Given the description of an element on the screen output the (x, y) to click on. 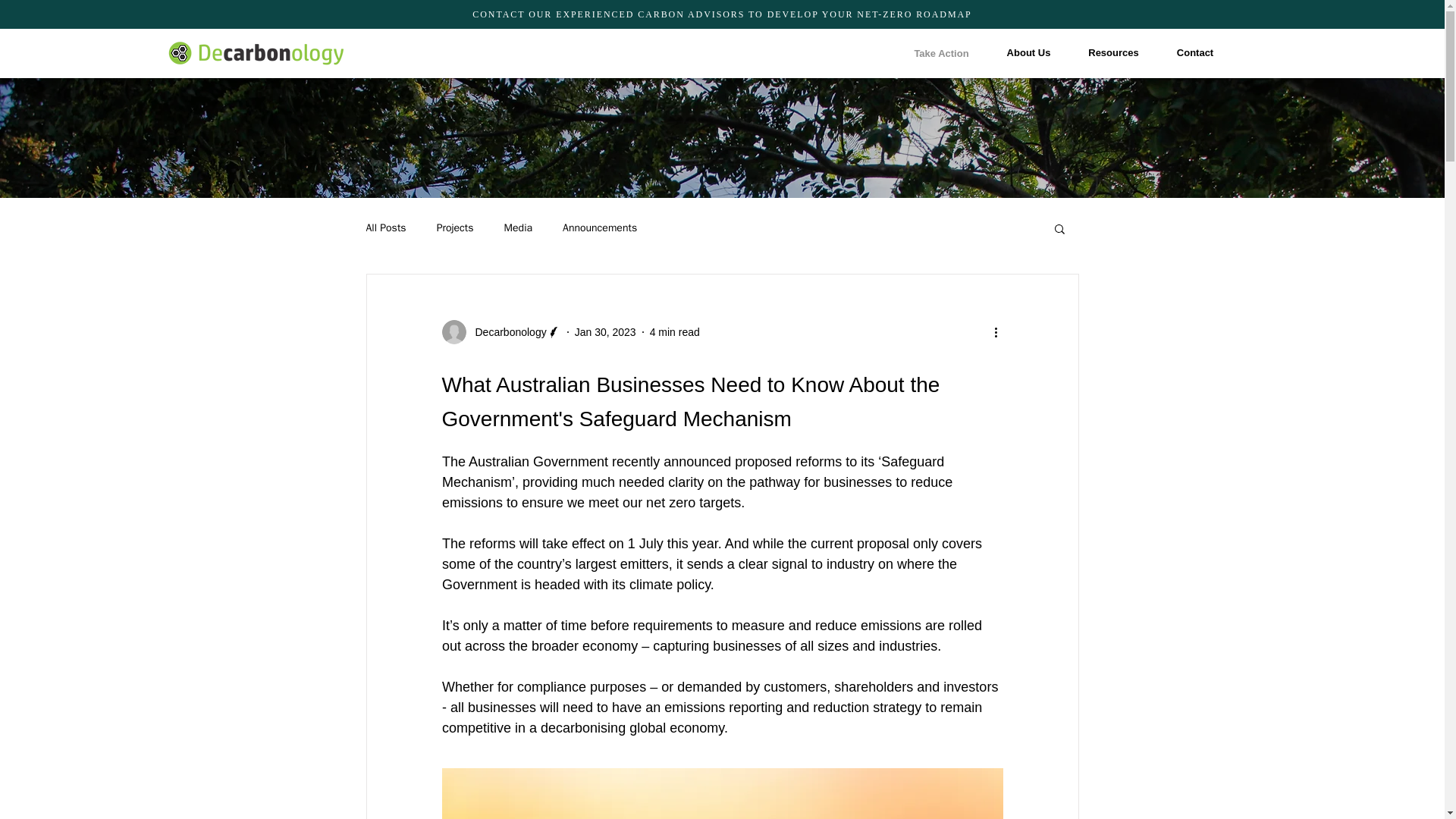
Announcements (599, 228)
4 min read (674, 331)
Contact (1194, 53)
All Posts (385, 228)
Media (517, 228)
About Us (1027, 53)
Projects (455, 228)
Take Action (941, 53)
Decarbonology (505, 332)
Decarbonology (500, 331)
Jan 30, 2023 (605, 331)
